Given the description of an element on the screen output the (x, y) to click on. 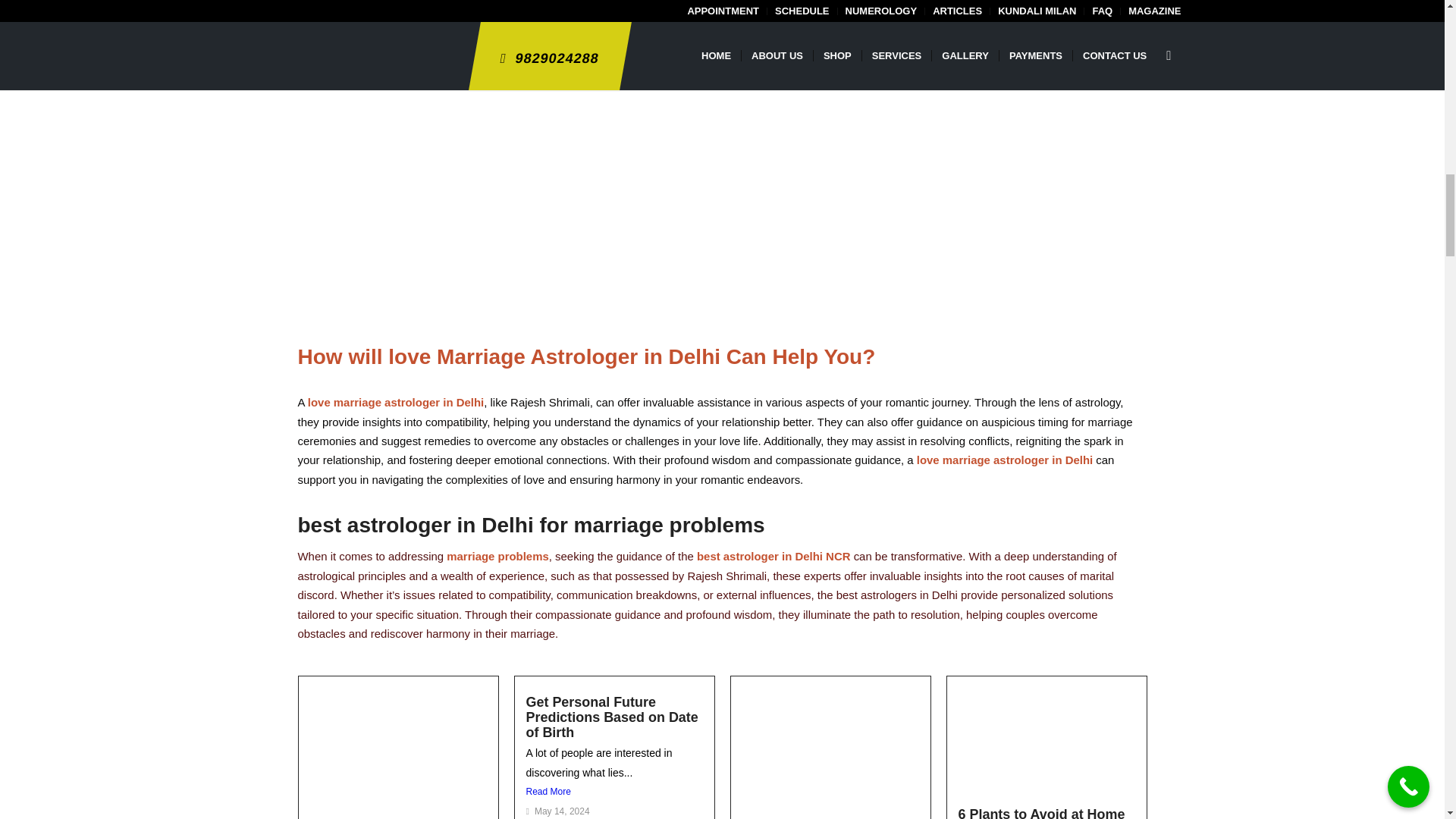
Get Personal Future Predictions Based on Date of Birth (611, 716)
best astrologer in Delhi NCR (773, 555)
6 Plants to Avoid at Home as per Vastu (1041, 812)
